Given the description of an element on the screen output the (x, y) to click on. 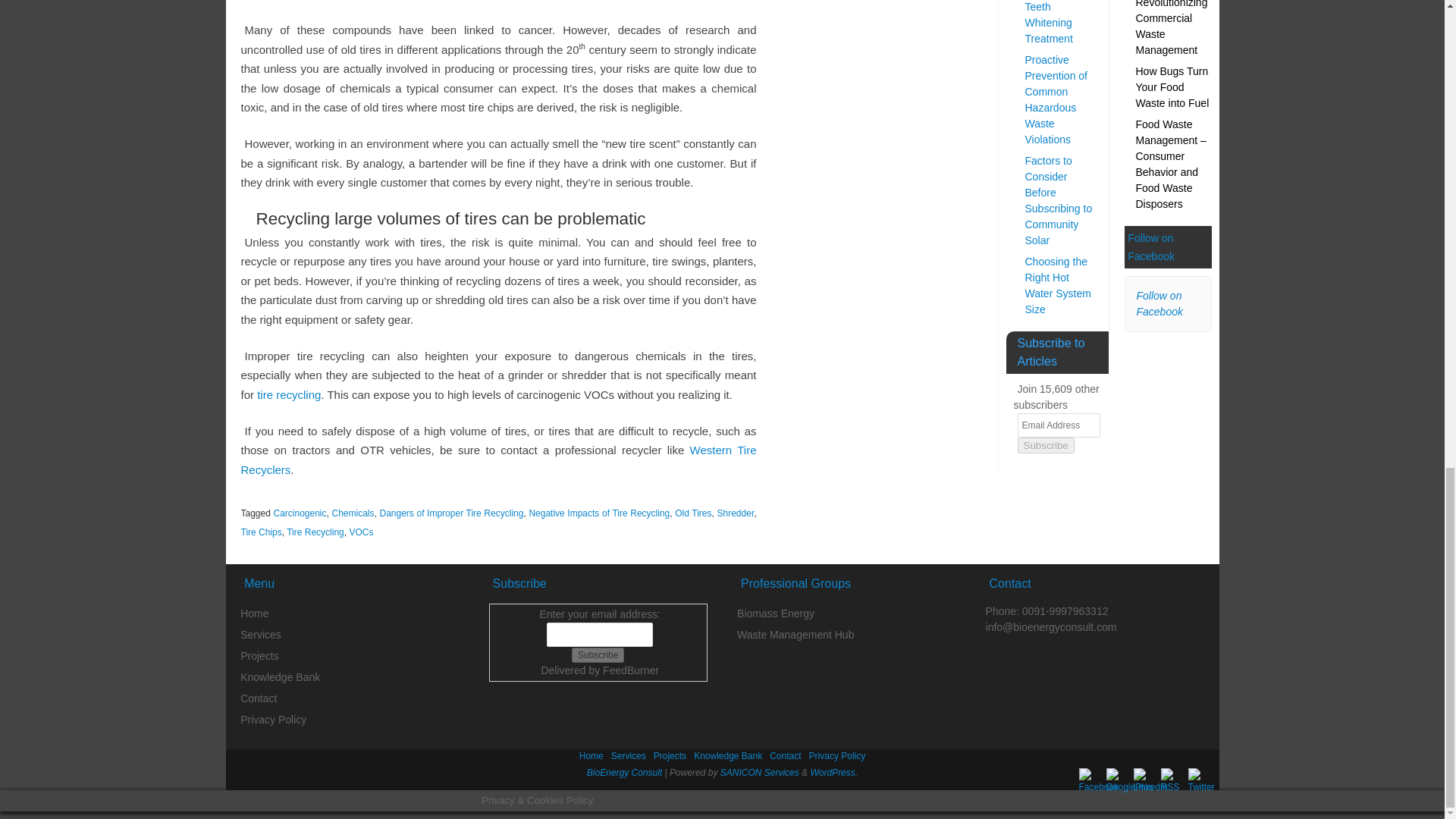
Subscribe (598, 654)
VOCs (360, 532)
Chemicals (352, 512)
Tire Chips (261, 532)
Western Tire Recyclers (499, 459)
tire recycling (288, 394)
Tire Recycling (314, 532)
Negative Impacts of Tire Recycling (598, 512)
Carcinogenic (299, 512)
Shredder (735, 512)
Old Tires (693, 512)
Dangers of Improper Tire Recycling (450, 512)
